Given the description of an element on the screen output the (x, y) to click on. 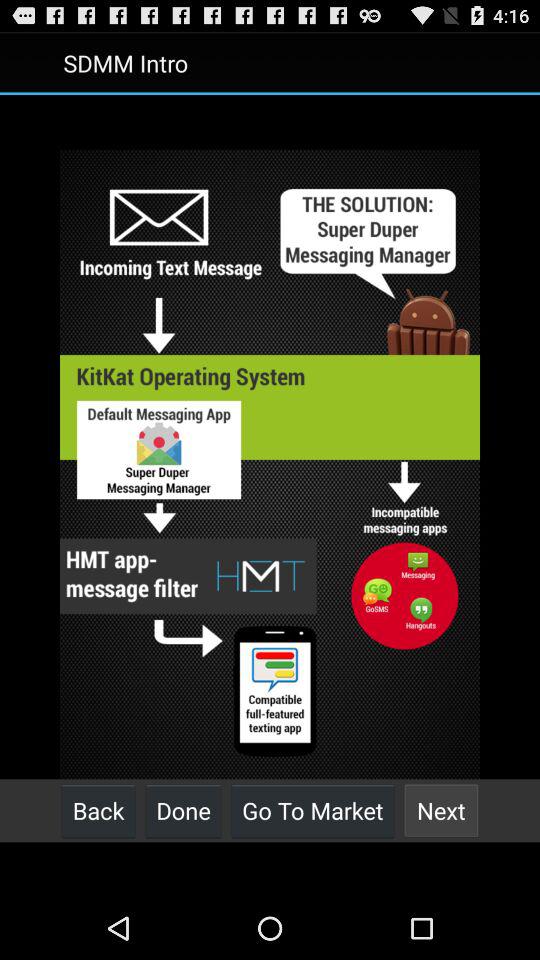
launch icon at the center (270, 464)
